Given the description of an element on the screen output the (x, y) to click on. 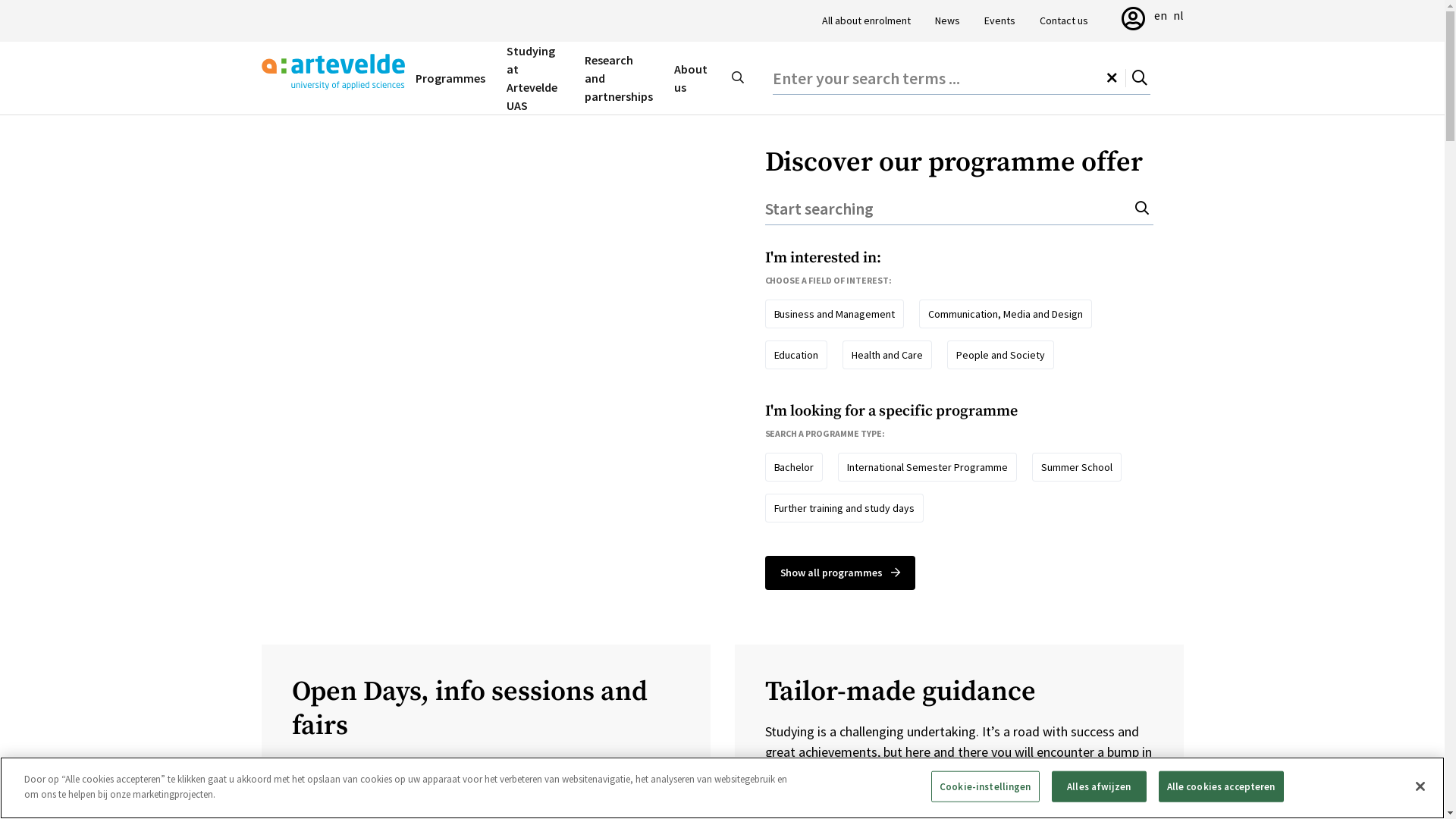
Bachelor Element type: text (793, 466)
Alle cookies accepteren Element type: text (1220, 787)
Studying at Artevelde UAS Element type: text (535, 77)
Search Element type: text (1143, 208)
All about enrolment Element type: text (866, 20)
Business and Management Element type: text (833, 313)
Events Element type: text (999, 20)
About us Element type: text (690, 77)
Reset Element type: text (1116, 78)
Research and partnerships Element type: text (618, 77)
Skip to main content Element type: text (0, 0)
Tailor-made guidance Element type: text (958, 691)
Start searching Element type: hover (958, 208)
Alles afwijzen Element type: text (1098, 787)
Summer School Element type: text (1076, 466)
en Element type: text (1160, 14)
nl Element type: text (1177, 14)
Contact us Element type: text (1062, 20)
International Semester Programme Element type: text (926, 466)
People and Society Element type: text (1000, 354)
Programmes Element type: text (450, 77)
Search Element type: text (737, 77)
Search Element type: text (1140, 78)
Further training and study days Element type: text (843, 507)
Open Days, info sessions and fairs Element type: text (485, 708)
Show all programmes Element type: text (839, 572)
Communication, Media and Design Element type: text (1005, 313)
Cookie-instellingen Element type: text (984, 787)
Education Element type: text (795, 354)
Health and Care Element type: text (886, 354)
News Element type: text (946, 20)
